Given the description of an element on the screen output the (x, y) to click on. 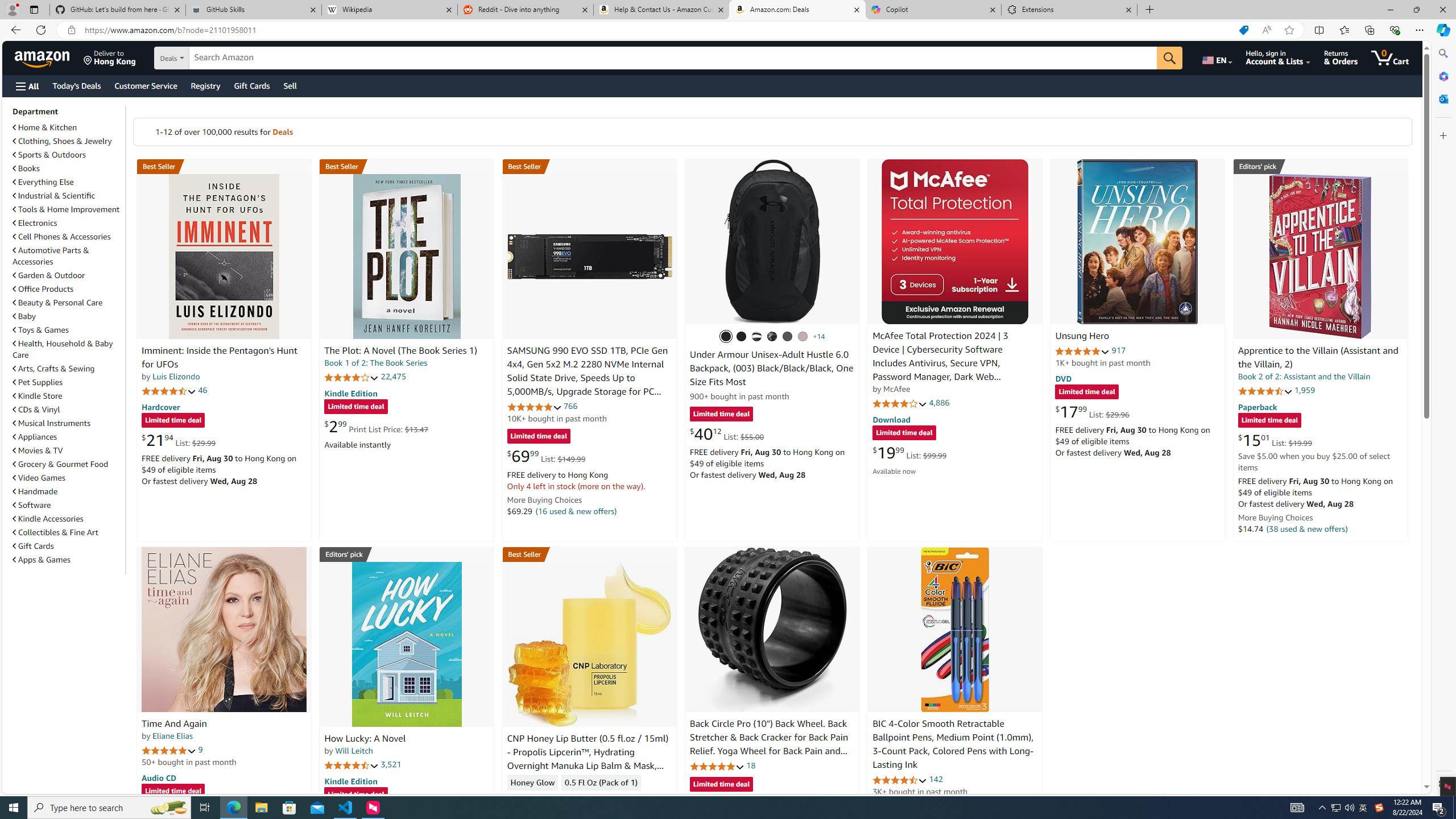
18 (750, 764)
Arts, Crafts & Sewing (67, 368)
(001) Black / Black / Metallic Gold (741, 336)
CDs & Vinyl (67, 409)
Toys & Games (40, 329)
Open Menu (26, 86)
Pet Supplies (67, 382)
$69.99 List: $149.99 (545, 455)
Automotive Parts & Accessories (50, 255)
Industrial & Scientific (67, 195)
Baby (24, 316)
4.2 out of 5 stars (352, 377)
